Given the description of an element on the screen output the (x, y) to click on. 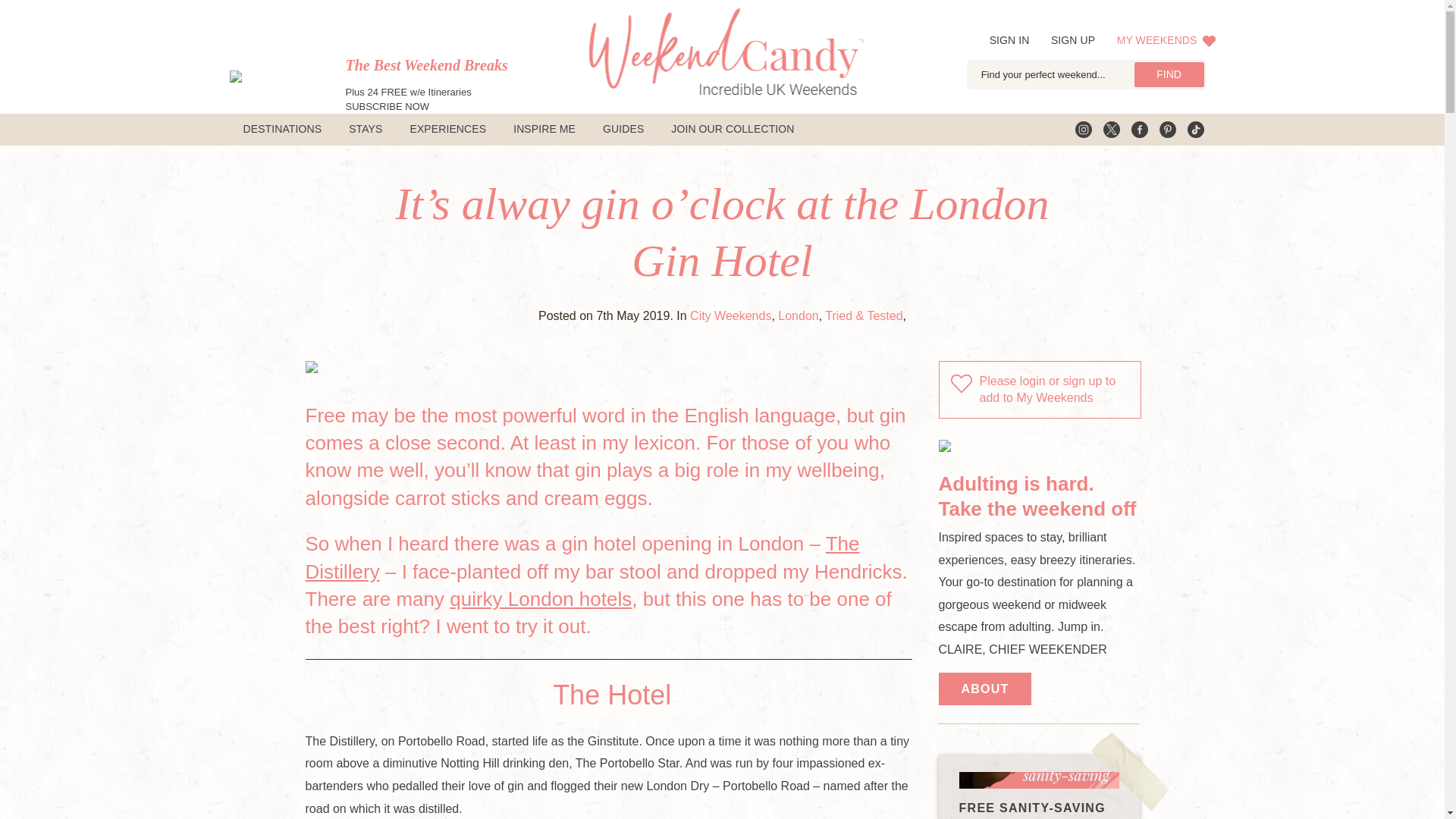
INSPIRE ME (544, 129)
SIGN IN (1009, 39)
EXPERIENCES (447, 129)
JOIN OUR COLLECTION (733, 129)
MY WEEKENDS (1165, 39)
DESTINATIONS (281, 129)
GUIDES (623, 129)
SIGN UP (1072, 39)
STAYS (365, 129)
Follow us on tiktok (1196, 129)
